Given the description of an element on the screen output the (x, y) to click on. 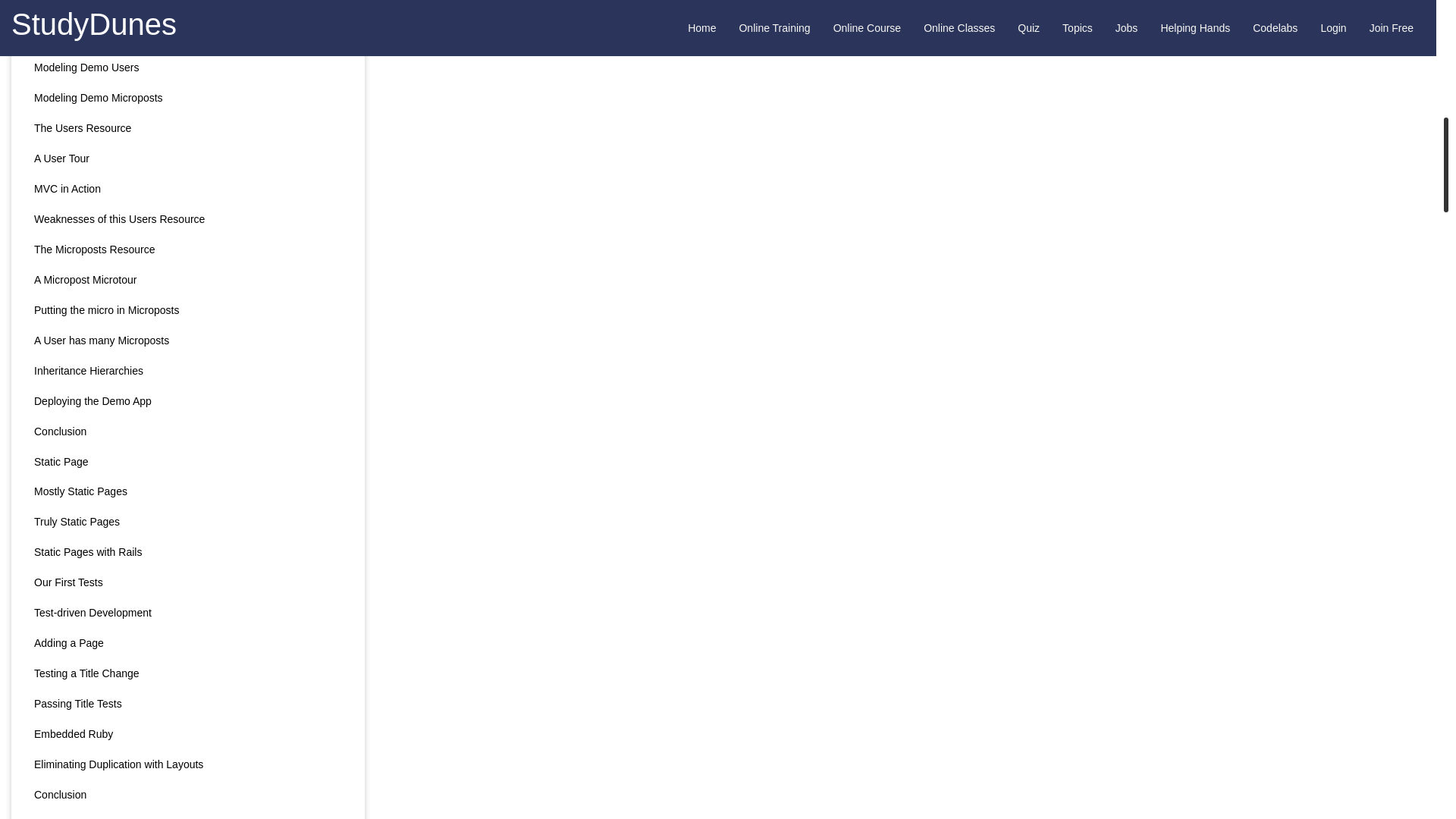
The Users Resource (188, 128)
Weaknesses of this Users Resource (188, 219)
A User Tour (188, 159)
Modeling Demo Users (188, 68)
Planning the Application (188, 37)
MVC in Action (188, 189)
Modeling Demo Microposts (188, 98)
A Demo App (188, 11)
